Given the description of an element on the screen output the (x, y) to click on. 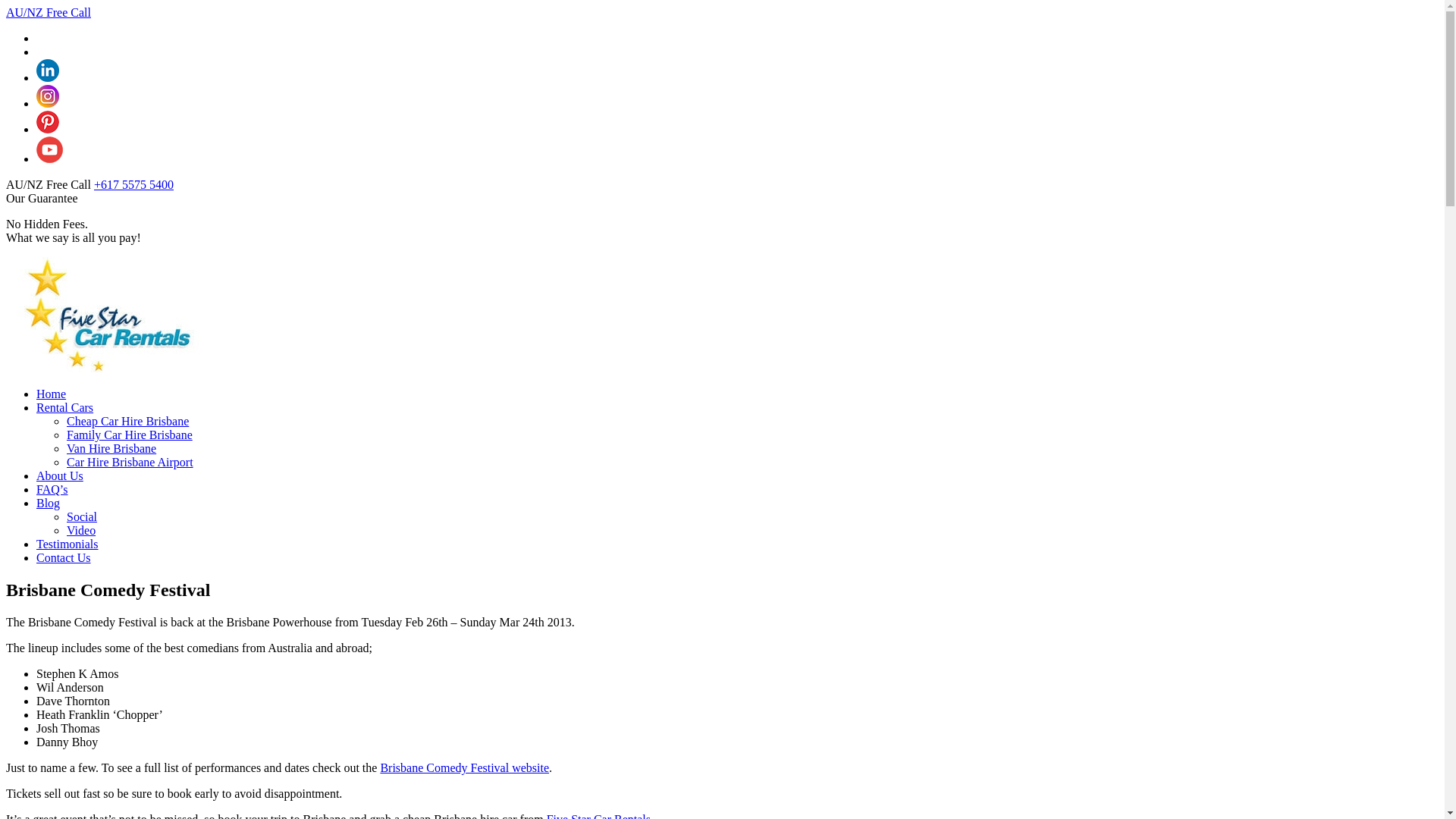
Testimonials Element type: text (67, 543)
Car Hire Brisbane Airport Element type: text (129, 461)
Blog Element type: text (47, 502)
Social Element type: text (81, 516)
Rental Cars Element type: text (64, 407)
Video Element type: text (80, 530)
Cheap Car Hire Brisbane Element type: text (127, 420)
Home Element type: text (50, 393)
Brisbane Comedy Festival website Element type: text (464, 767)
About Us Element type: text (59, 475)
Contact Us Element type: text (63, 557)
+617 5575 5400 Element type: text (133, 184)
Family Car Hire Brisbane Element type: text (129, 434)
AU/NZ Free Call Element type: text (48, 12)
Van Hire Brisbane Element type: text (111, 448)
